Given the description of an element on the screen output the (x, y) to click on. 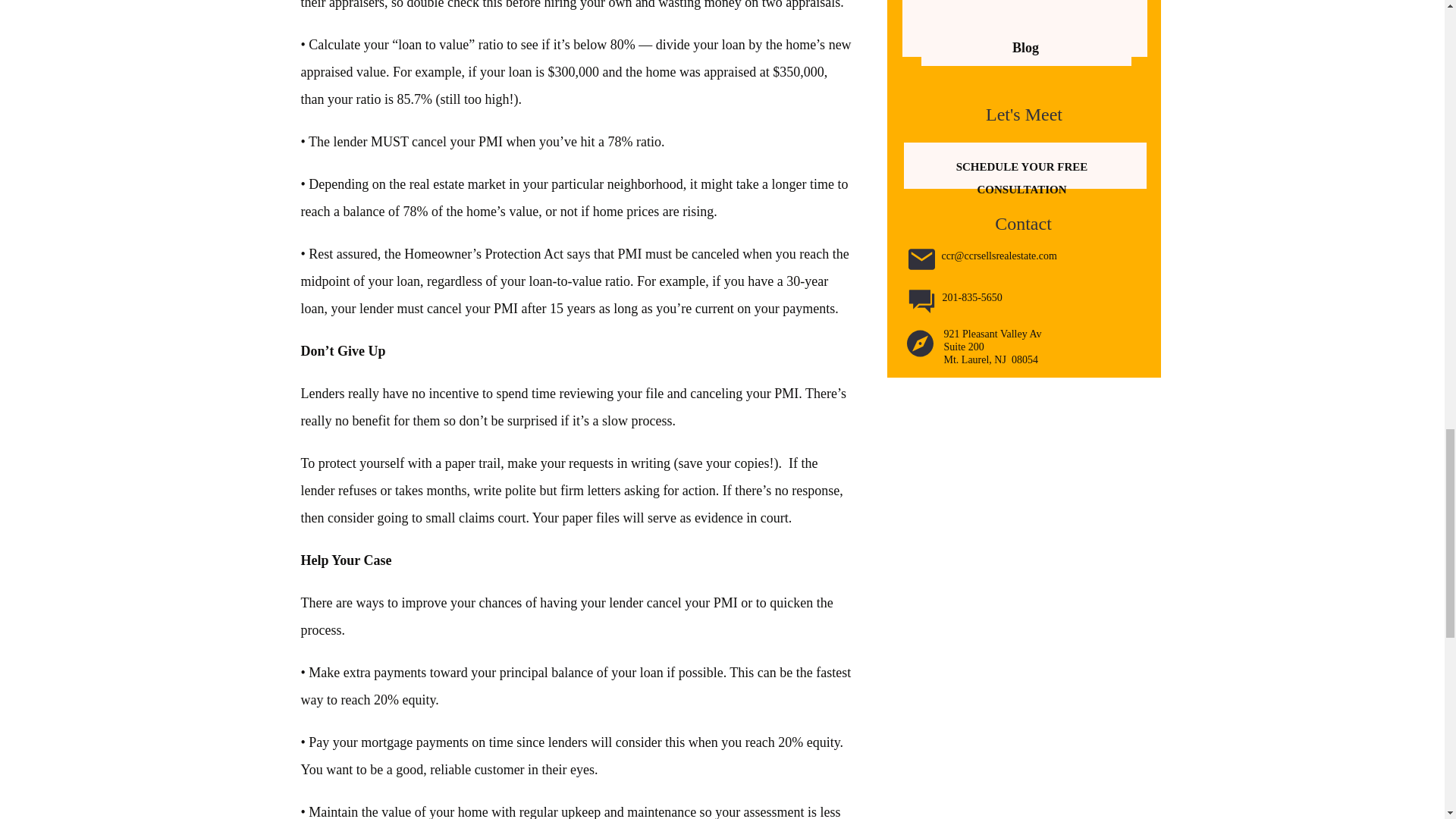
SCHEDULE YOUR FREE CONSULTATION (1021, 163)
Blog (1025, 47)
